Given the description of an element on the screen output the (x, y) to click on. 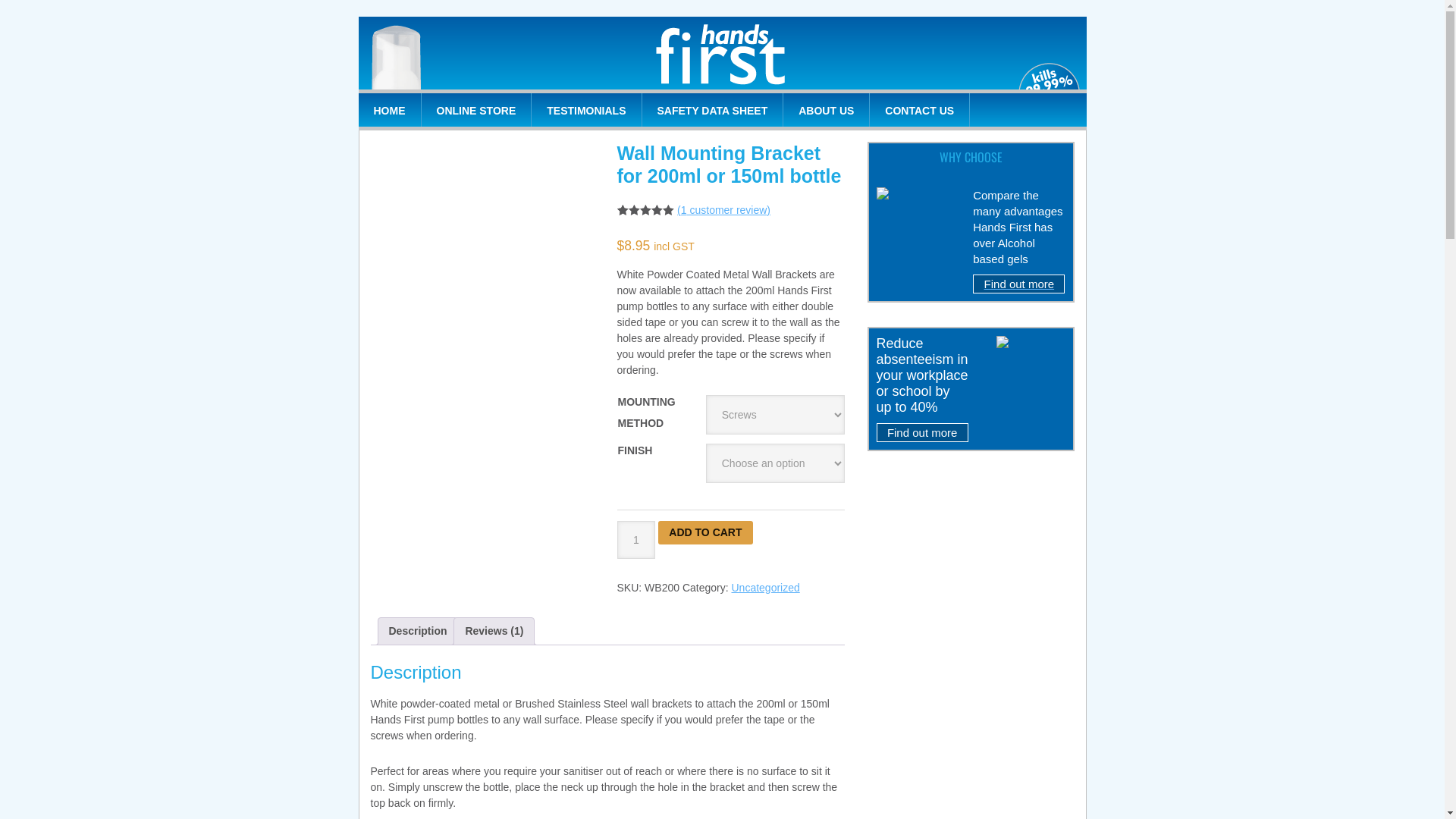
Description Element type: text (417, 631)
ABOUT US Element type: text (826, 109)
Find out more Element type: text (922, 443)
ADD TO CART Element type: text (705, 532)
CONTACT US Element type: text (919, 109)
HOME Element type: text (388, 109)
Home Element type: hover (721, 52)
SAFETY DATA SHEET Element type: text (712, 109)
(1 customer review) Element type: text (723, 209)
Find out more Element type: text (1018, 294)
ONLINE STORE Element type: text (476, 109)
Reviews (1) Element type: text (493, 631)
TESTIMONIALS Element type: text (586, 109)
Uncategorized Element type: text (765, 587)
